Given the description of an element on the screen output the (x, y) to click on. 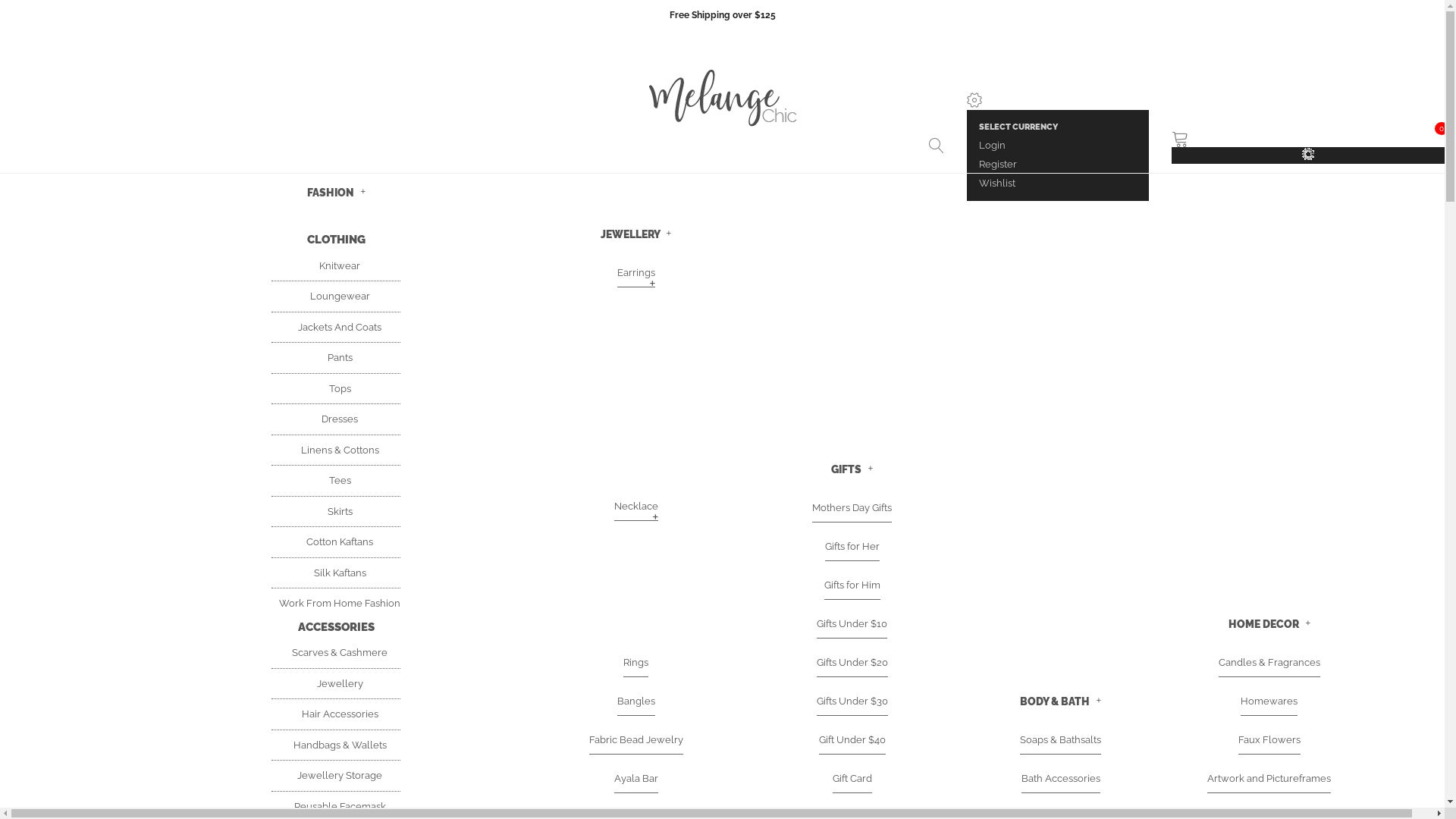
Earrings Element type: text (636, 272)
Fabric Bead Jewelry Element type: text (635, 739)
Statement earrings Element type: text (635, 403)
Reusable Facemask Element type: text (335, 806)
Loungewear Element type: text (335, 295)
Cotton Kaftans Element type: text (335, 541)
BODY & BATH Element type: text (1060, 700)
Login Element type: text (992, 144)
JEWELLERY Element type: text (635, 233)
Gift Under $40 Element type: text (852, 739)
Work From Home Fashion Element type: text (335, 602)
Tops Element type: text (336, 388)
Soaps & Bathsalts Element type: text (1060, 739)
Classic Necklaces Element type: text (635, 597)
Mothers Day Gifts Element type: text (851, 507)
Gifts Under $10 Element type: text (851, 623)
Bath Accessories Element type: text (1059, 778)
FASHION Element type: text (335, 191)
Longstation Necklace Element type: text (635, 597)
Hair Accessories Element type: text (336, 713)
Jewellery Storage Element type: text (335, 775)
Bangles Element type: text (636, 701)
Jewellery Element type: text (336, 683)
Handbags & Wallets Element type: text (335, 744)
Candles & Fragrances Element type: text (1268, 662)
0 Element type: text (1307, 138)
Scarves & Cashmere Element type: text (335, 652)
Homewares Element type: text (1268, 701)
Rings Element type: text (635, 662)
Register Element type: text (997, 163)
Necklace Element type: text (636, 506)
Pearl Earrings Element type: text (635, 403)
Faux Flowers Element type: text (1268, 739)
Knitwear Element type: text (335, 265)
HOME DECOR Element type: text (1269, 623)
GIFTS Element type: text (851, 468)
Pants Element type: text (336, 357)
Artwork and Pictureframes Element type: text (1268, 778)
Silk Kaftans Element type: text (336, 572)
Gifts Under $30 Element type: text (851, 701)
Gifts for Her Element type: text (852, 546)
Turkish Earrings Element type: text (635, 403)
Linens & Cottons Element type: text (335, 449)
Gifts for Him Element type: text (851, 585)
Gifts Under $20 Element type: text (851, 662)
Jackets And Coats Element type: text (335, 326)
Skirts Element type: text (336, 511)
Gift Card Element type: text (852, 778)
Classic Earrings Element type: text (635, 403)
Ayala Bar Element type: text (636, 778)
Wishlist Element type: text (997, 182)
Gemstones Earrings Element type: text (635, 403)
Tees Element type: text (336, 480)
Dresses Element type: text (335, 418)
Turkish Necklaces Element type: text (635, 597)
Melange Element type: hover (721, 99)
